Given the description of an element on the screen output the (x, y) to click on. 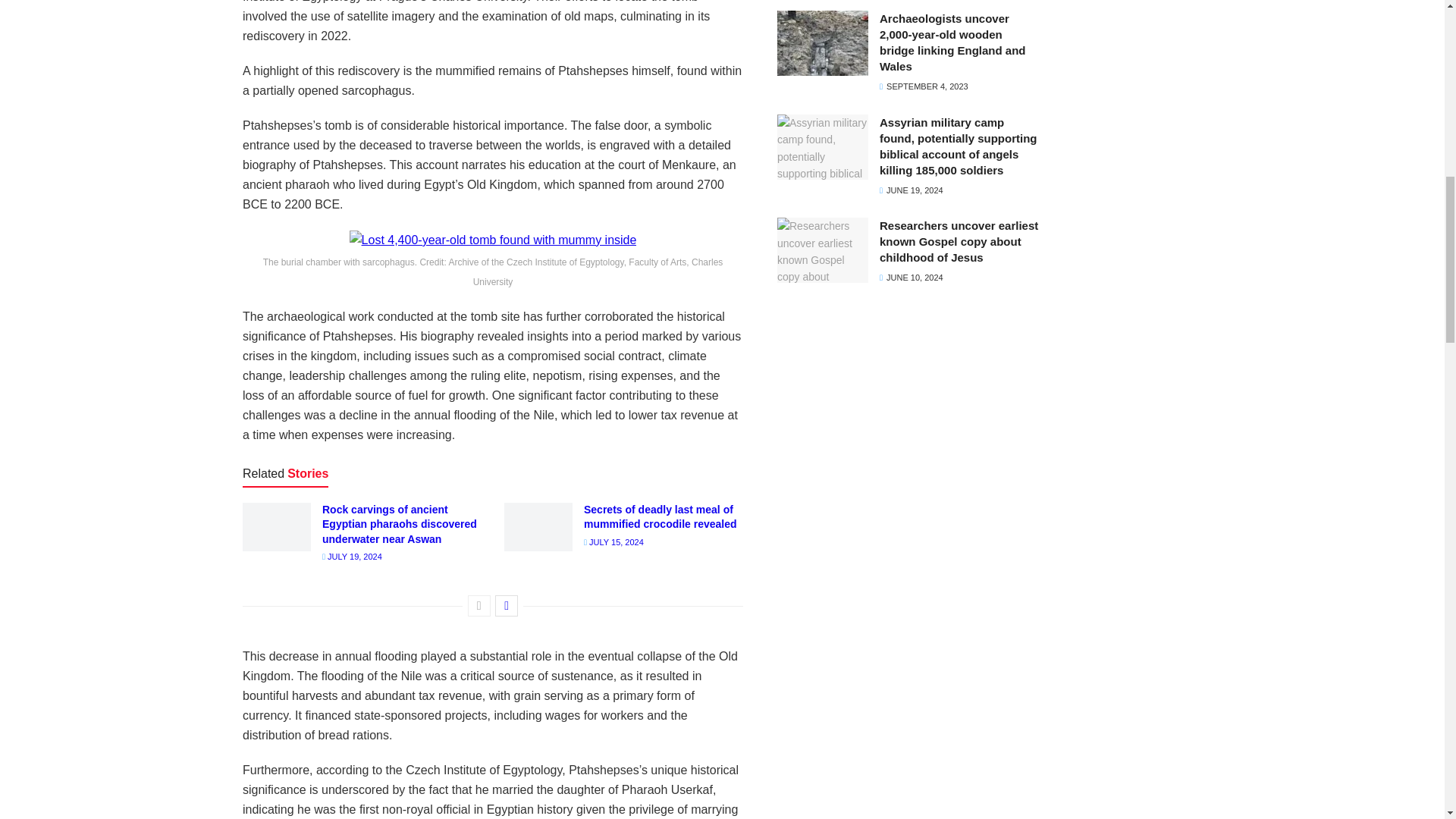
Next (506, 605)
Previous (478, 605)
